Given the description of an element on the screen output the (x, y) to click on. 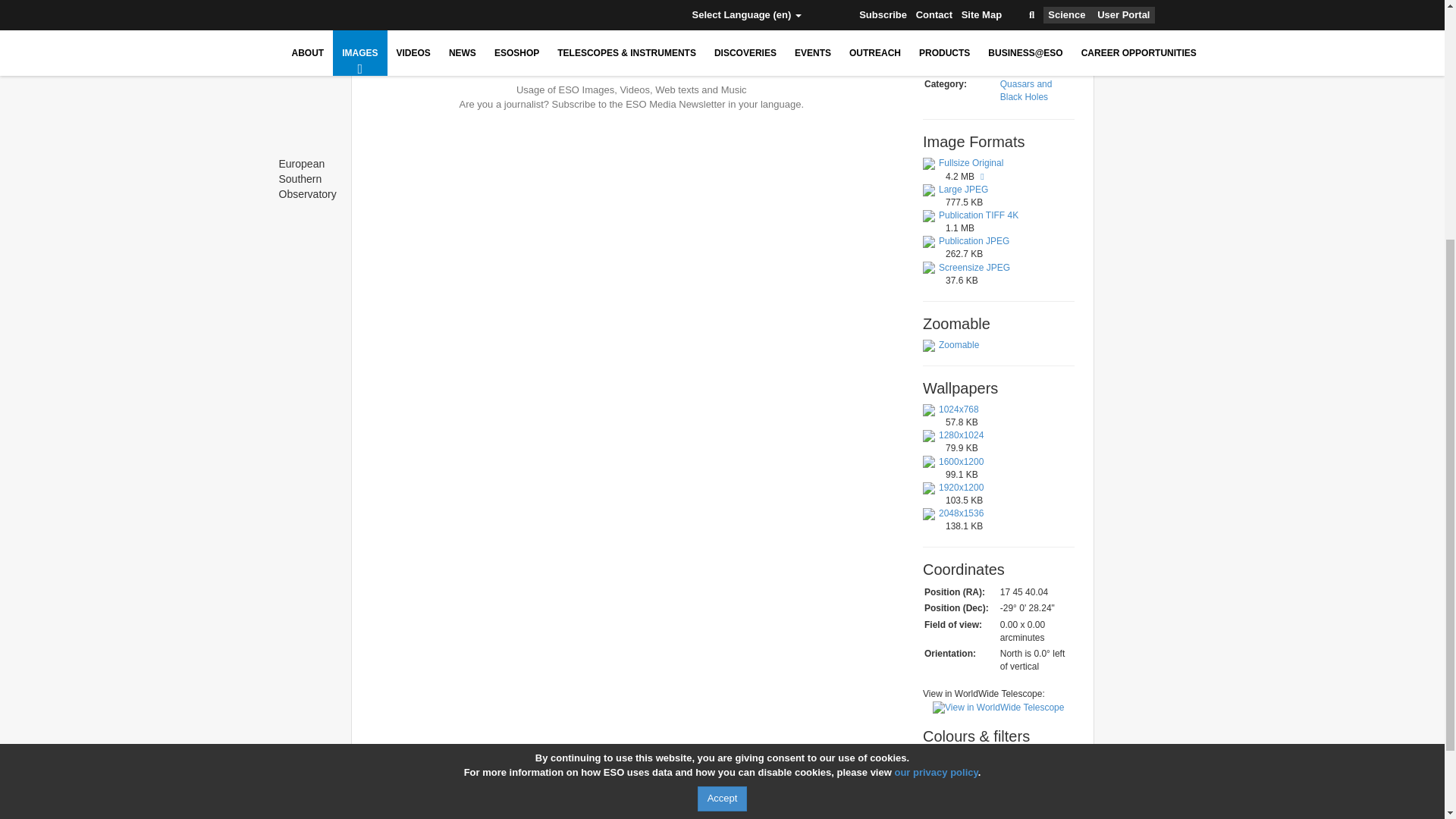
Accept (722, 432)
our privacy policy (934, 406)
